Given the description of an element on the screen output the (x, y) to click on. 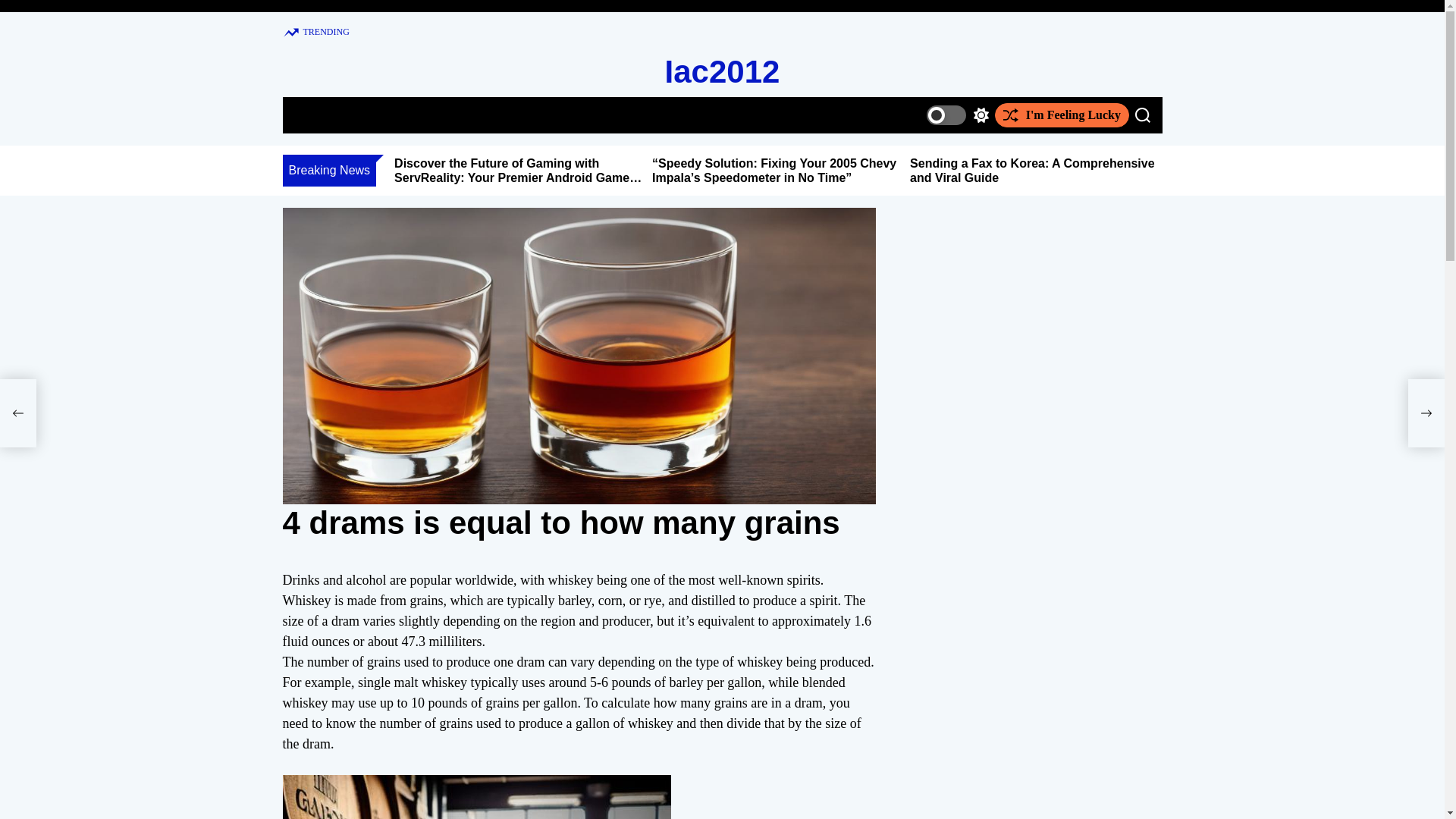
Iac2012 (722, 71)
I'm Feeling Lucky (1061, 115)
360 ml is equal to how many ounces (18, 413)
Switch color mode (957, 115)
Sending a Fax to Korea: A Comprehensive and Viral Guide (1032, 170)
Search (1142, 114)
